Given the description of an element on the screen output the (x, y) to click on. 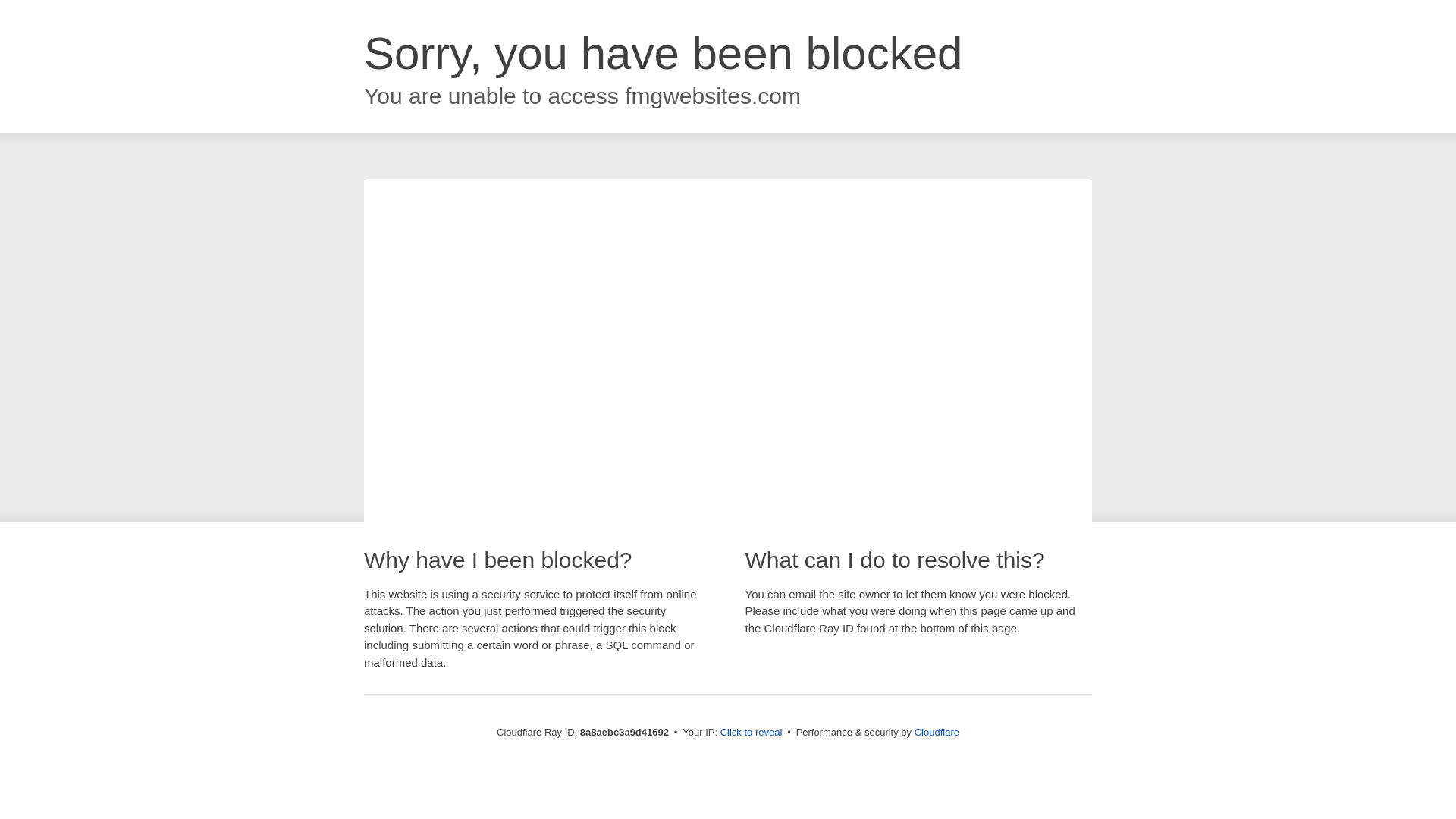
Click to reveal (751, 732)
Cloudflare (936, 731)
